Given the description of an element on the screen output the (x, y) to click on. 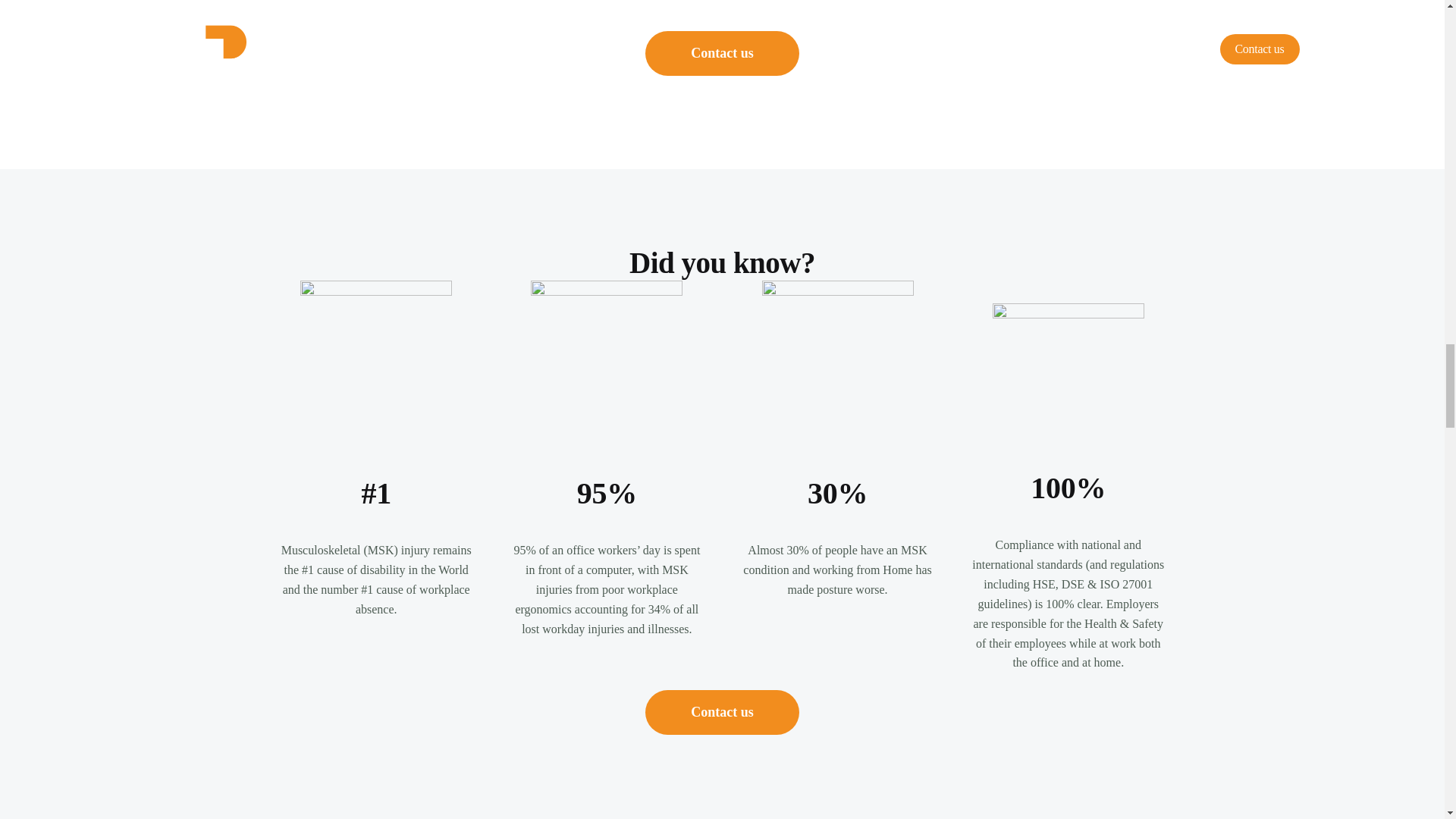
Contact us (722, 53)
Contact us (722, 712)
